Given the description of an element on the screen output the (x, y) to click on. 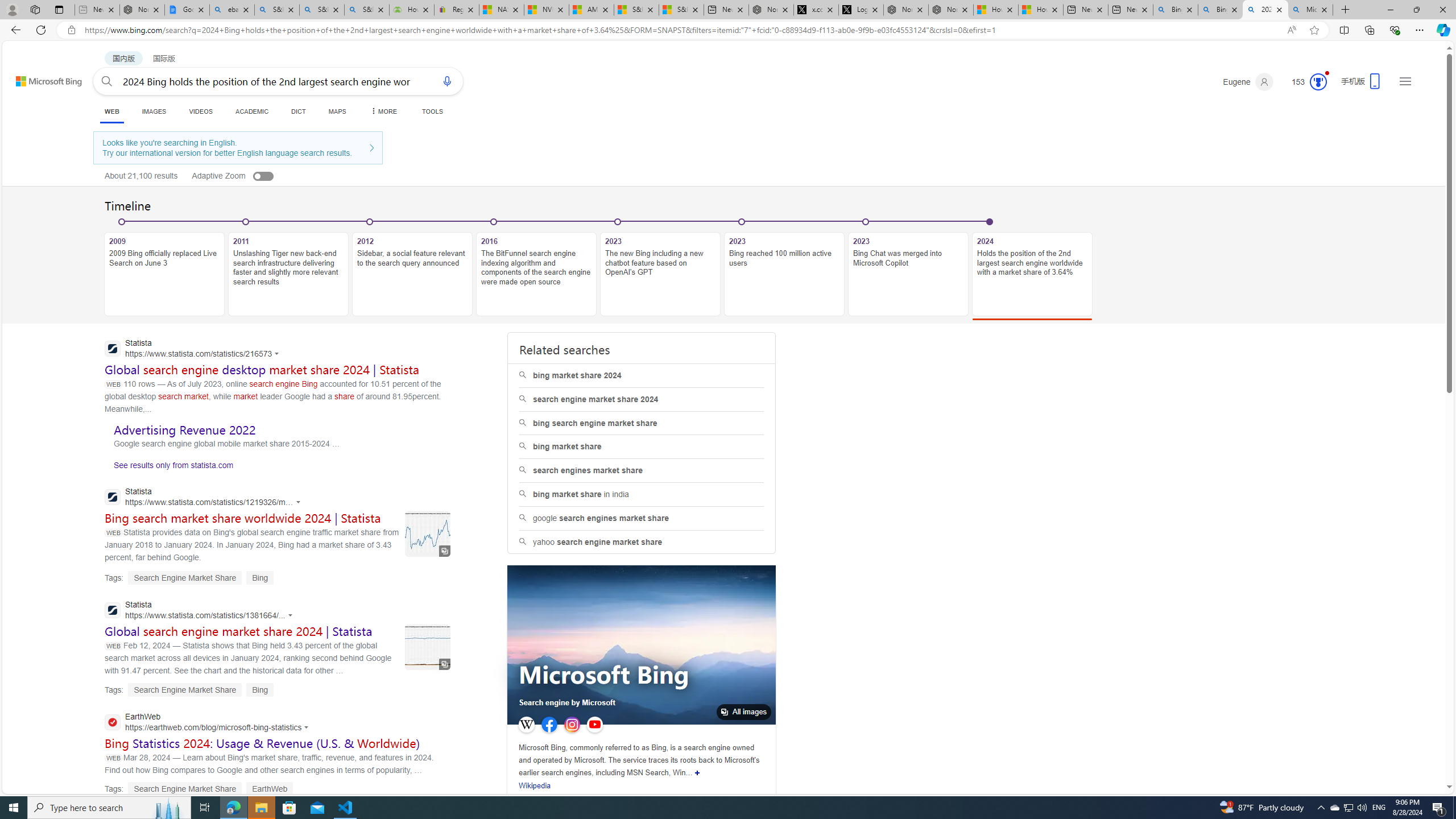
Instagram (571, 724)
Wikipedia (534, 785)
yahoo search engine market share (641, 541)
google search engines market share (641, 518)
bing market share in india (641, 494)
search engine market share 2024 (641, 399)
Adaptive Zoom (244, 175)
Tags: Search Engine Market Share Bing (188, 689)
S&P 500 - Search (321, 9)
google search engines market share (641, 517)
bing market share in india (641, 494)
Search more (1423, 753)
